Given the description of an element on the screen output the (x, y) to click on. 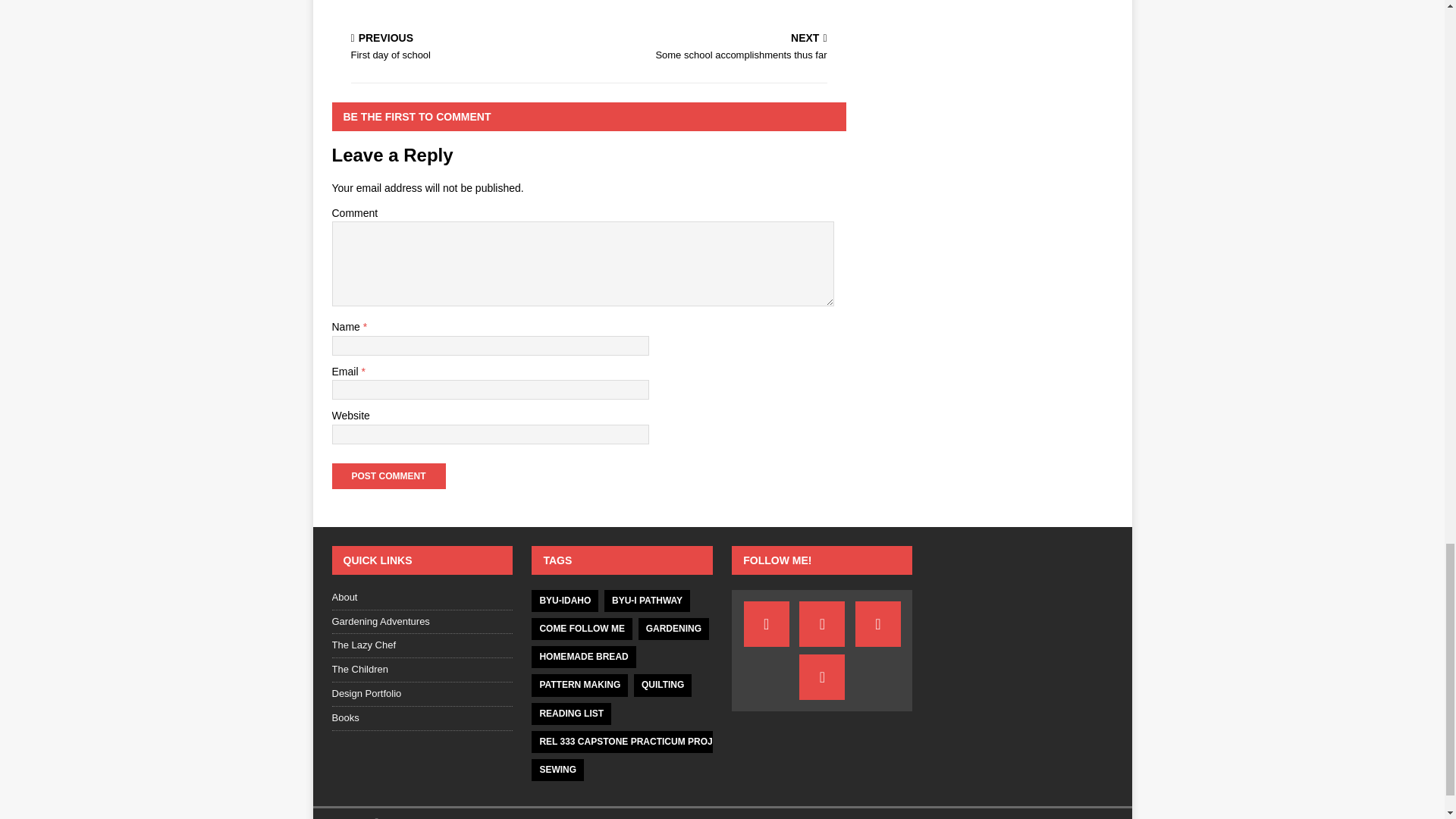
Post Comment (710, 47)
